Given the description of an element on the screen output the (x, y) to click on. 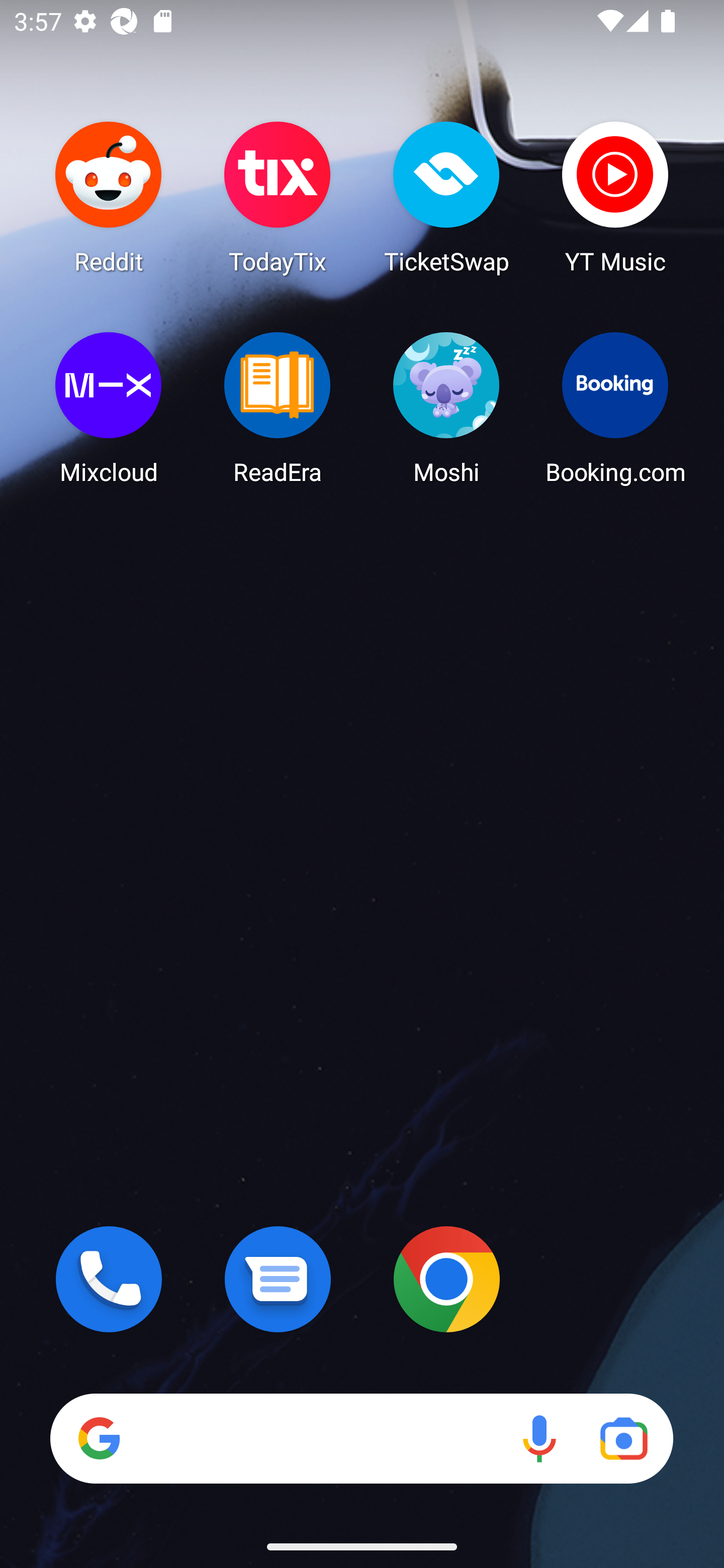
Reddit (108, 196)
TodayTix (277, 196)
TicketSwap (445, 196)
YT Music (615, 196)
Mixcloud (108, 407)
ReadEra (277, 407)
Moshi (445, 407)
Booking.com (615, 407)
Phone (108, 1279)
Messages (277, 1279)
Chrome (446, 1279)
Search Voice search Google Lens (361, 1438)
Voice search (539, 1438)
Google Lens (623, 1438)
